Given the description of an element on the screen output the (x, y) to click on. 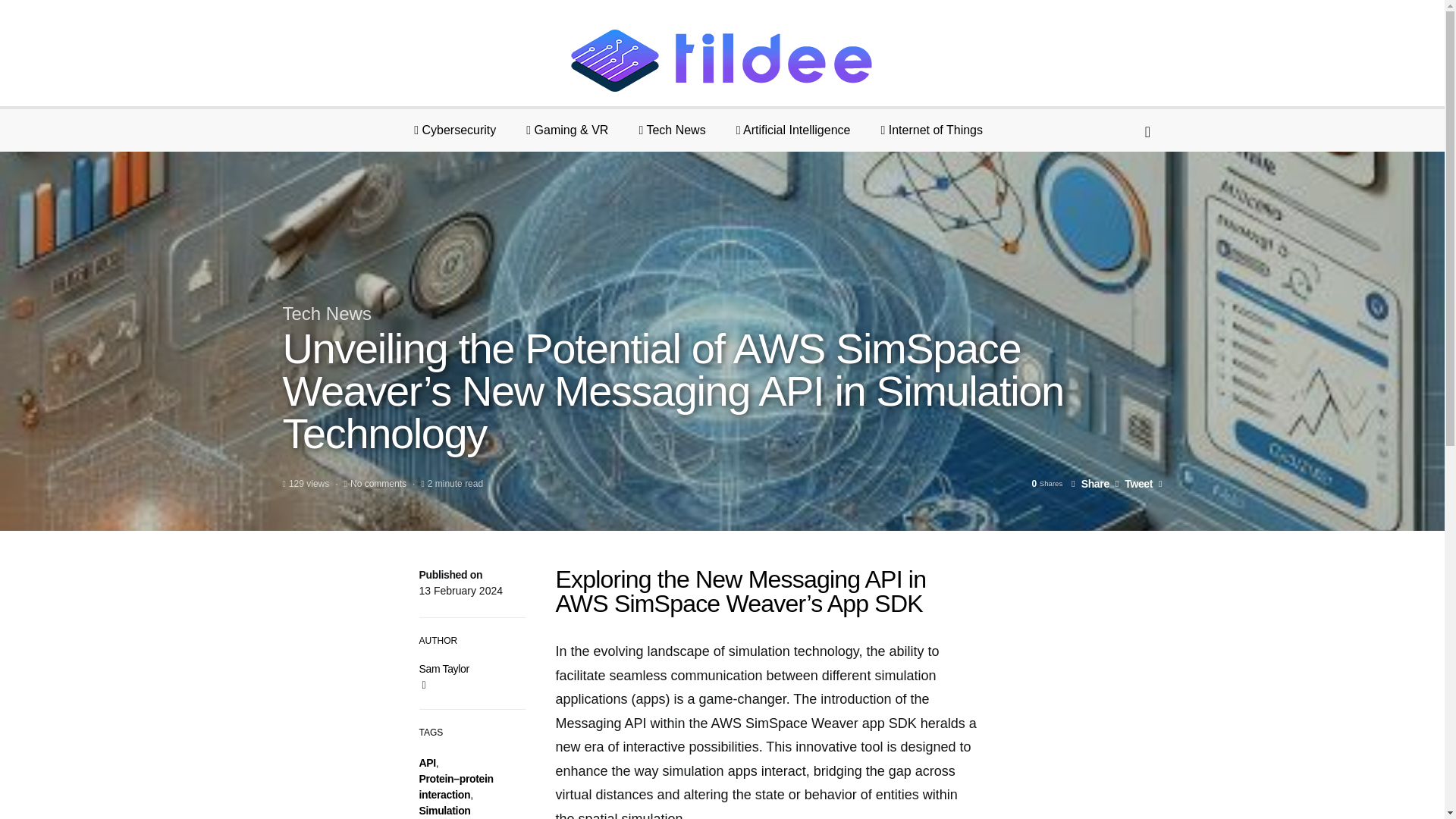
Tweet (1134, 483)
Simulation (444, 810)
Share (1090, 483)
Tech News (326, 313)
Sam Taylor (443, 668)
API (427, 762)
No comments (378, 483)
